Given the description of an element on the screen output the (x, y) to click on. 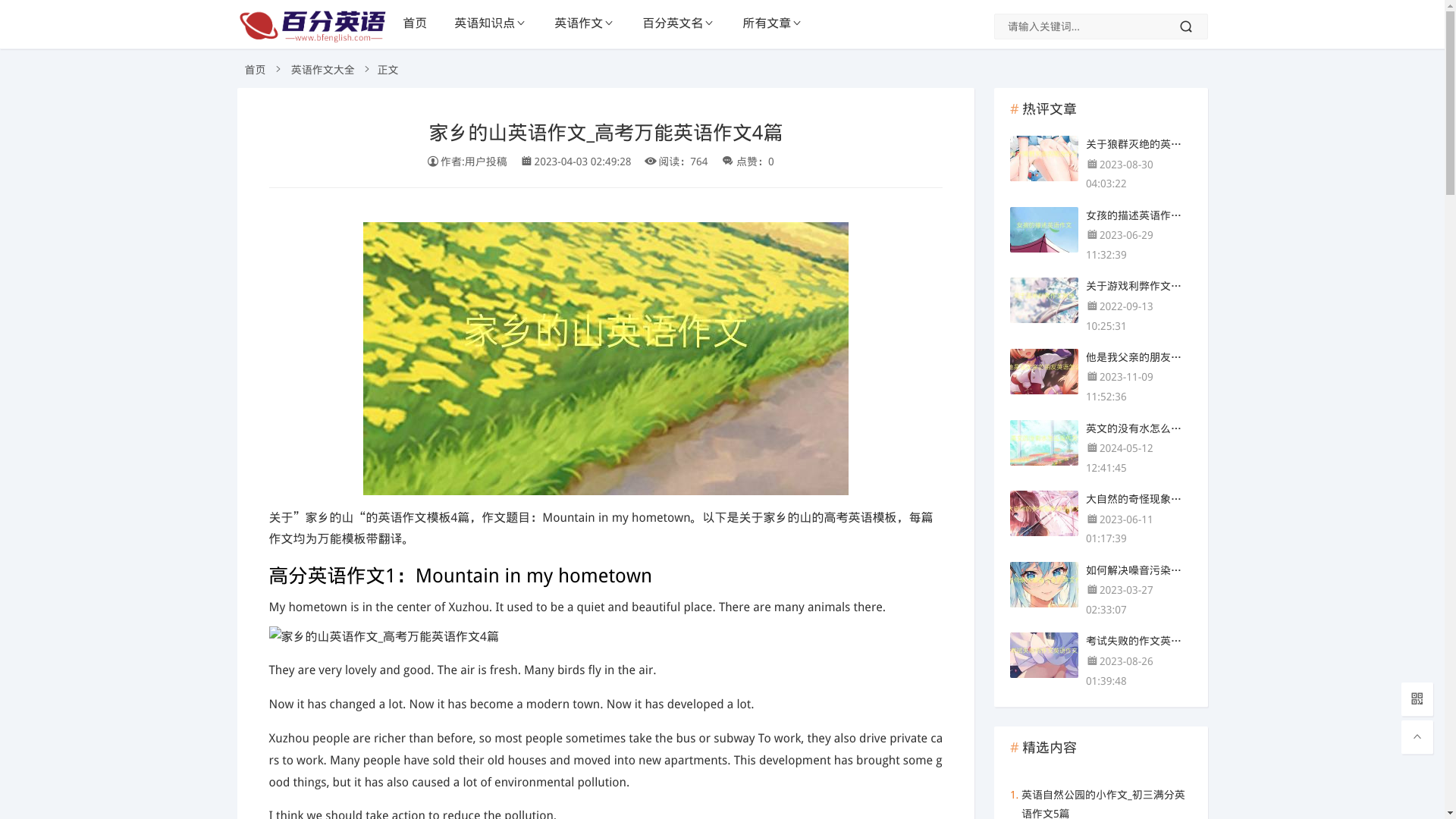
2023-04-03 02:49:28 (582, 161)
